Given the description of an element on the screen output the (x, y) to click on. 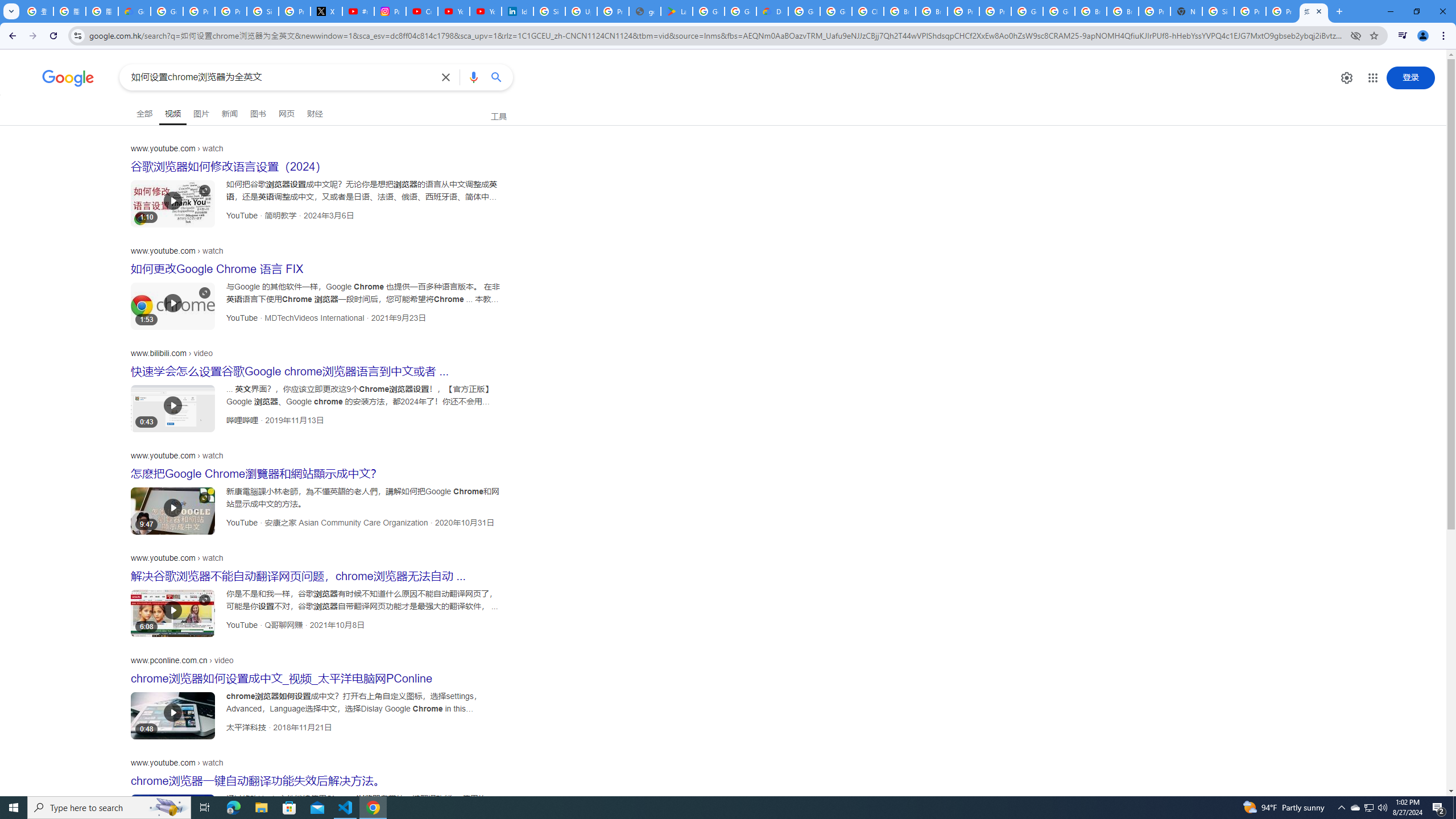
Google Workspace - Specific Terms (740, 11)
